Given the description of an element on the screen output the (x, y) to click on. 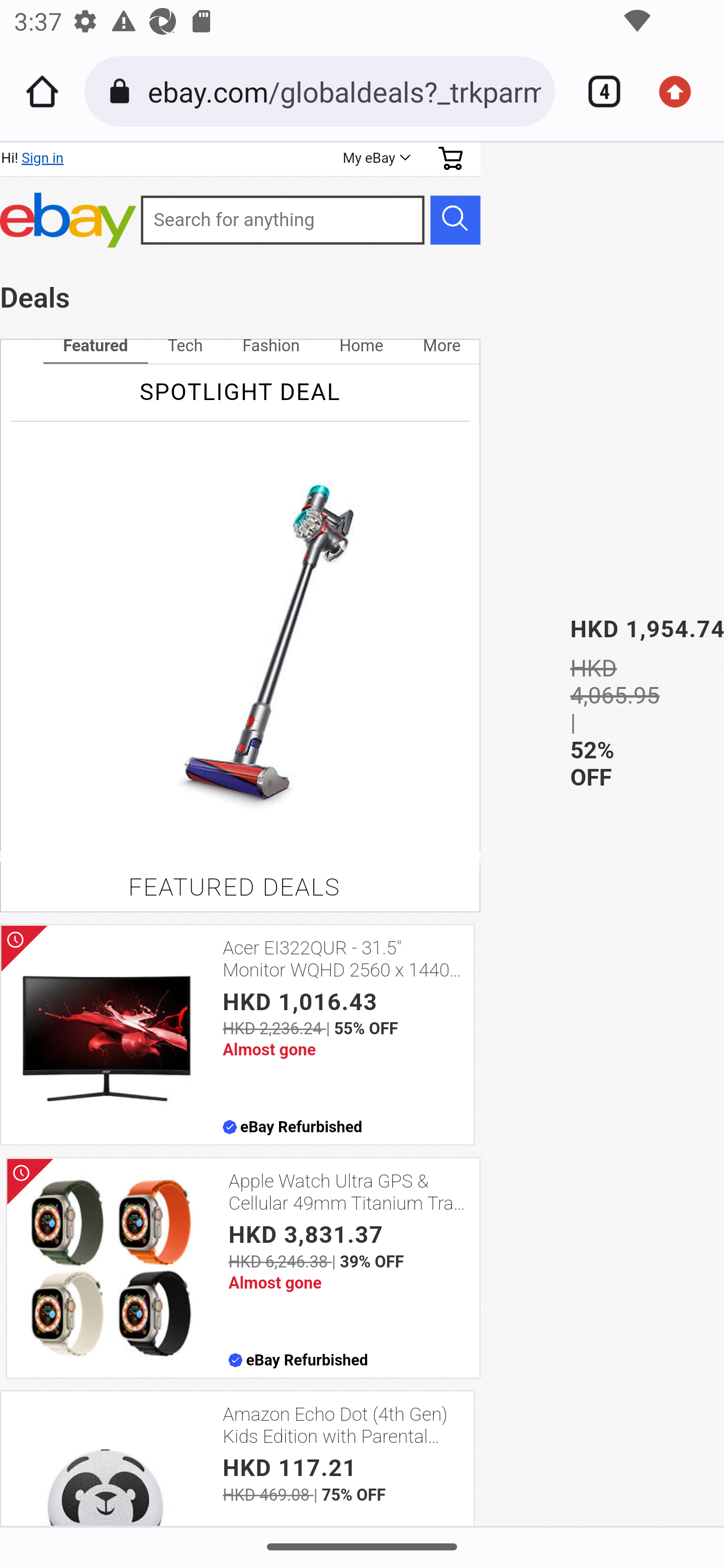
Home (42, 91)
Connection is secure (122, 91)
Switch or close tabs (597, 91)
Update available. More options (681, 91)
Your shopping cart (450, 158)
My eBay (375, 158)
Sign in (41, 157)
eBay Home (68, 220)
Search (454, 219)
Featured Current View Featured (94, 345)
Tech (184, 345)
Fashion (270, 345)
Home (361, 345)
More (441, 345)
